Given the description of an element on the screen output the (x, y) to click on. 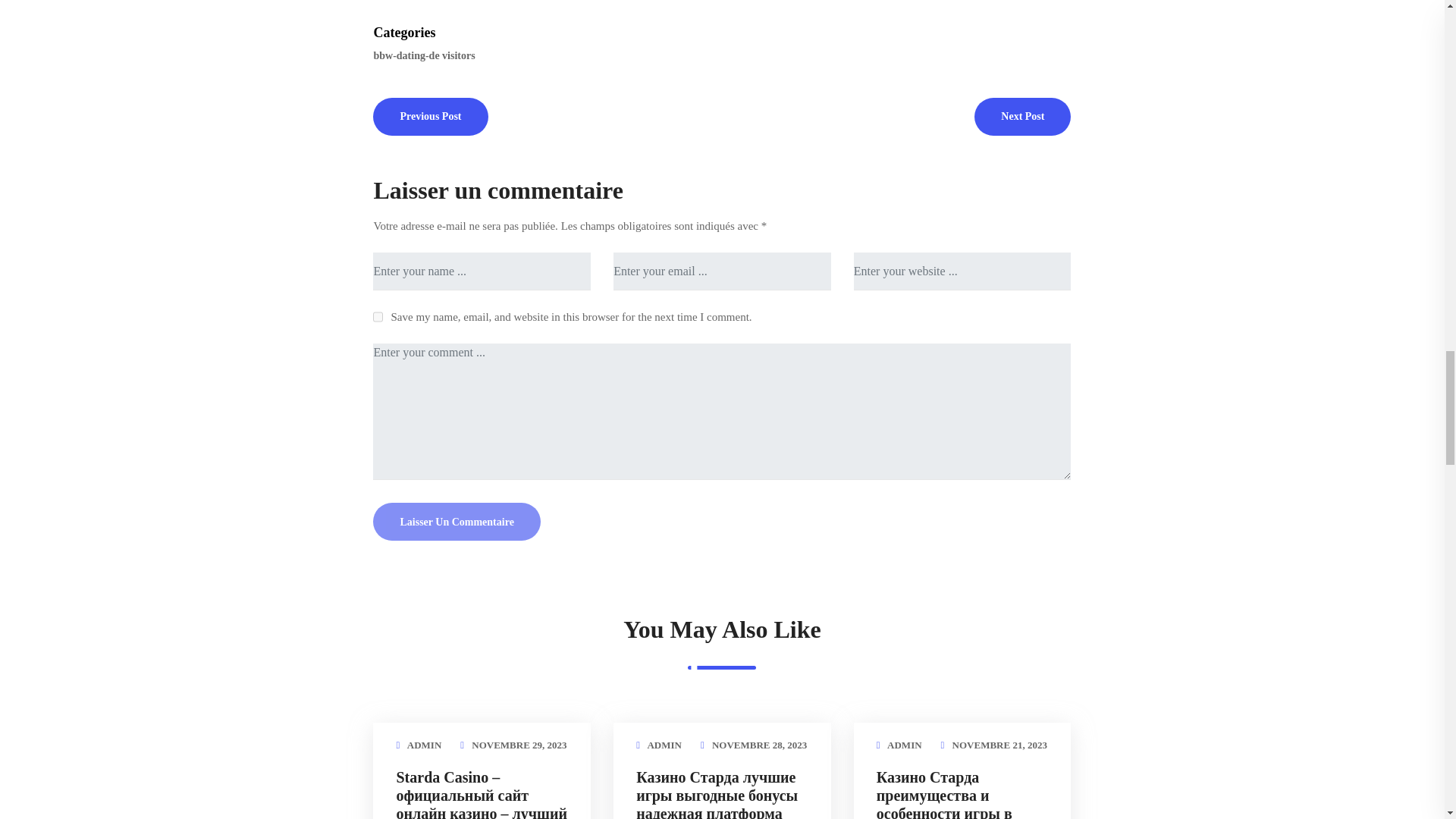
NOVEMBRE 28, 2023 (758, 745)
NOVEMBRE 21, 2023 (999, 745)
Previous Post (429, 116)
Next Post (1022, 116)
NOVEMBRE 29, 2023 (518, 745)
bbw-dating-de visitors (425, 55)
Laisser un commentaire (456, 521)
ADMIN (903, 745)
Laisser un commentaire (456, 521)
ADMIN (663, 745)
ADMIN (424, 745)
